Given the description of an element on the screen output the (x, y) to click on. 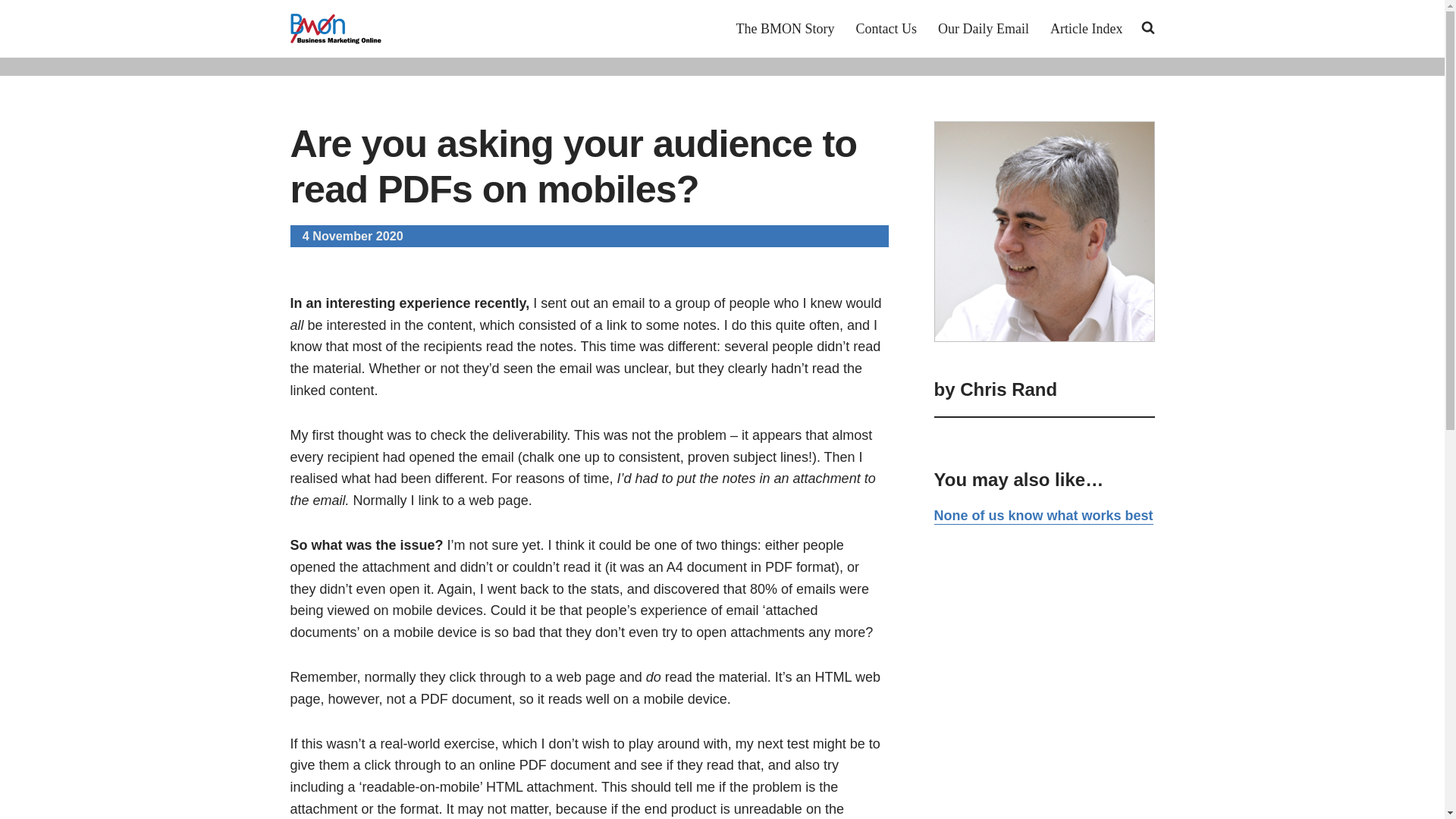
None of us know what works best (1043, 515)
Skip to content (11, 31)
Our Daily Email (983, 28)
Article Index (1085, 28)
The BMON Story (785, 28)
Contact Us (886, 28)
